Given the description of an element on the screen output the (x, y) to click on. 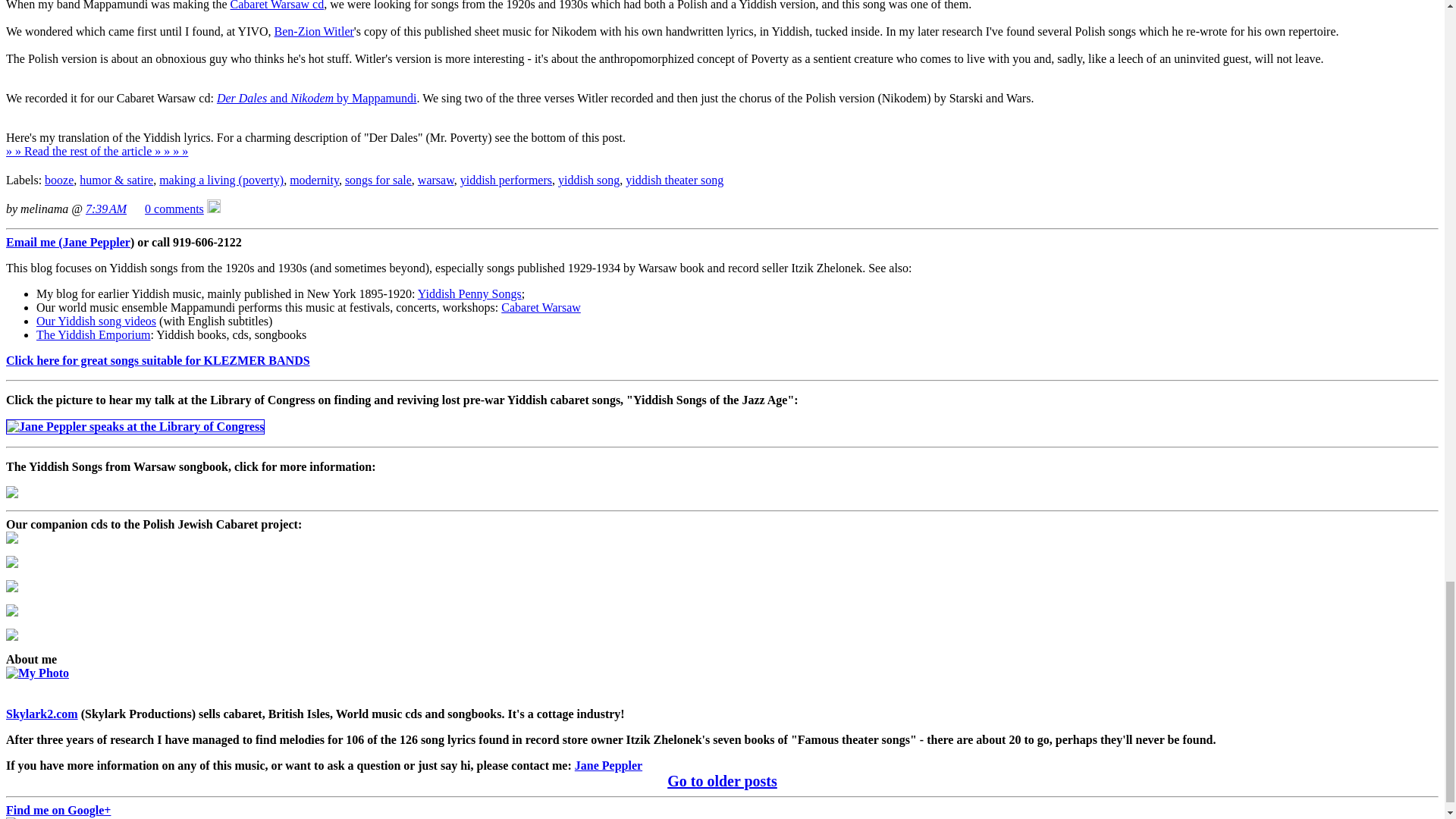
Edit Post (213, 208)
permanent link (105, 208)
